Given the description of an element on the screen output the (x, y) to click on. 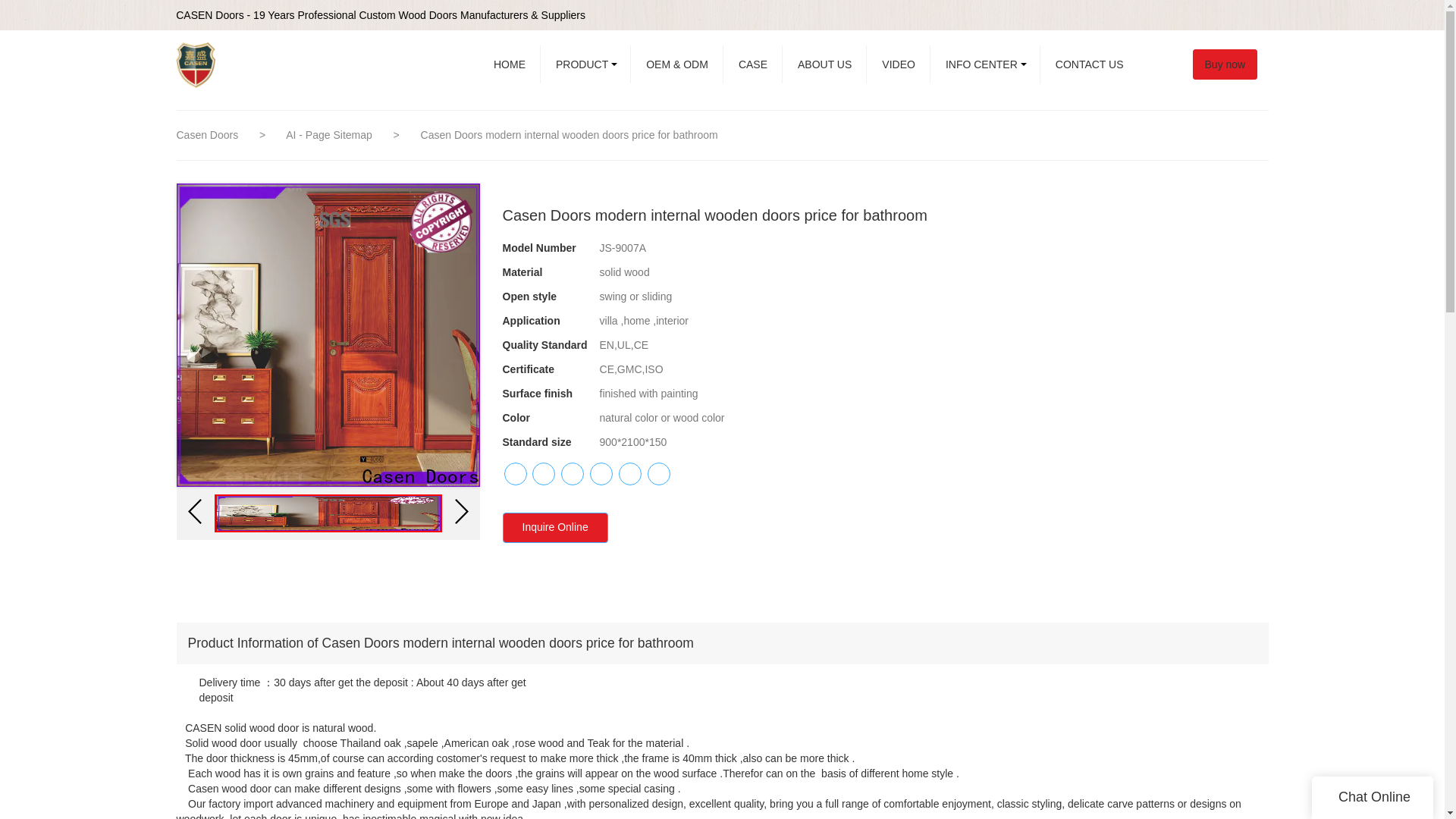
VIDEO (898, 64)
HOME (509, 64)
Inquire Online (554, 527)
AI - Page Sitemap (330, 134)
PRODUCT (585, 64)
Casen Doors (207, 134)
Buy now     (1231, 64)
CONTACT US (1089, 64)
INFO CENTER (985, 64)
ABOUT US (824, 64)
